Given the description of an element on the screen output the (x, y) to click on. 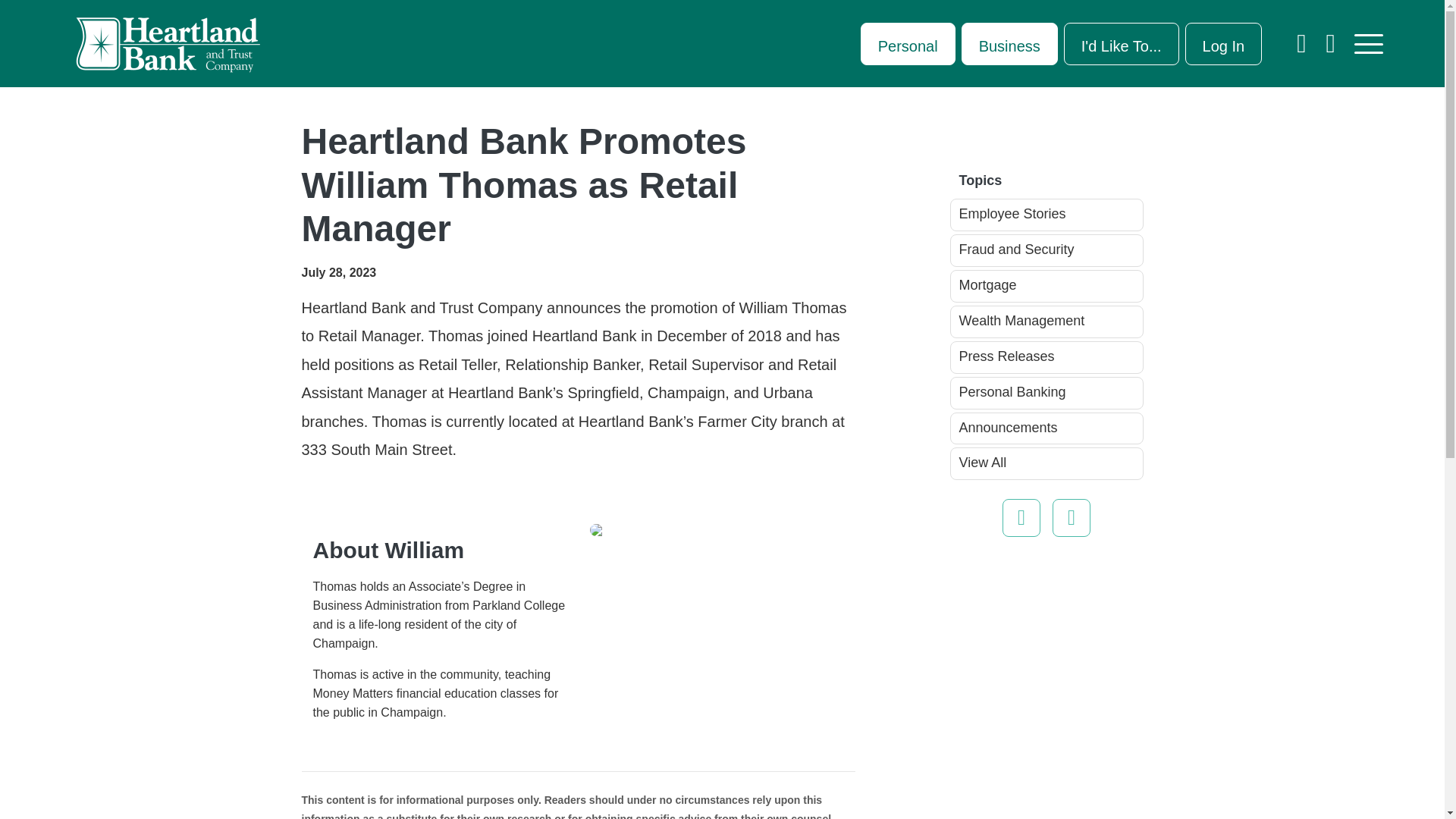
Business (1009, 43)
Personal (907, 43)
Business Banking (1009, 43)
I'd Like To... (1121, 43)
Main Navigation (1369, 43)
I'd Like To... (1121, 43)
Log In (1223, 43)
Personal Banking (907, 43)
Log In (1223, 43)
